Given the description of an element on the screen output the (x, y) to click on. 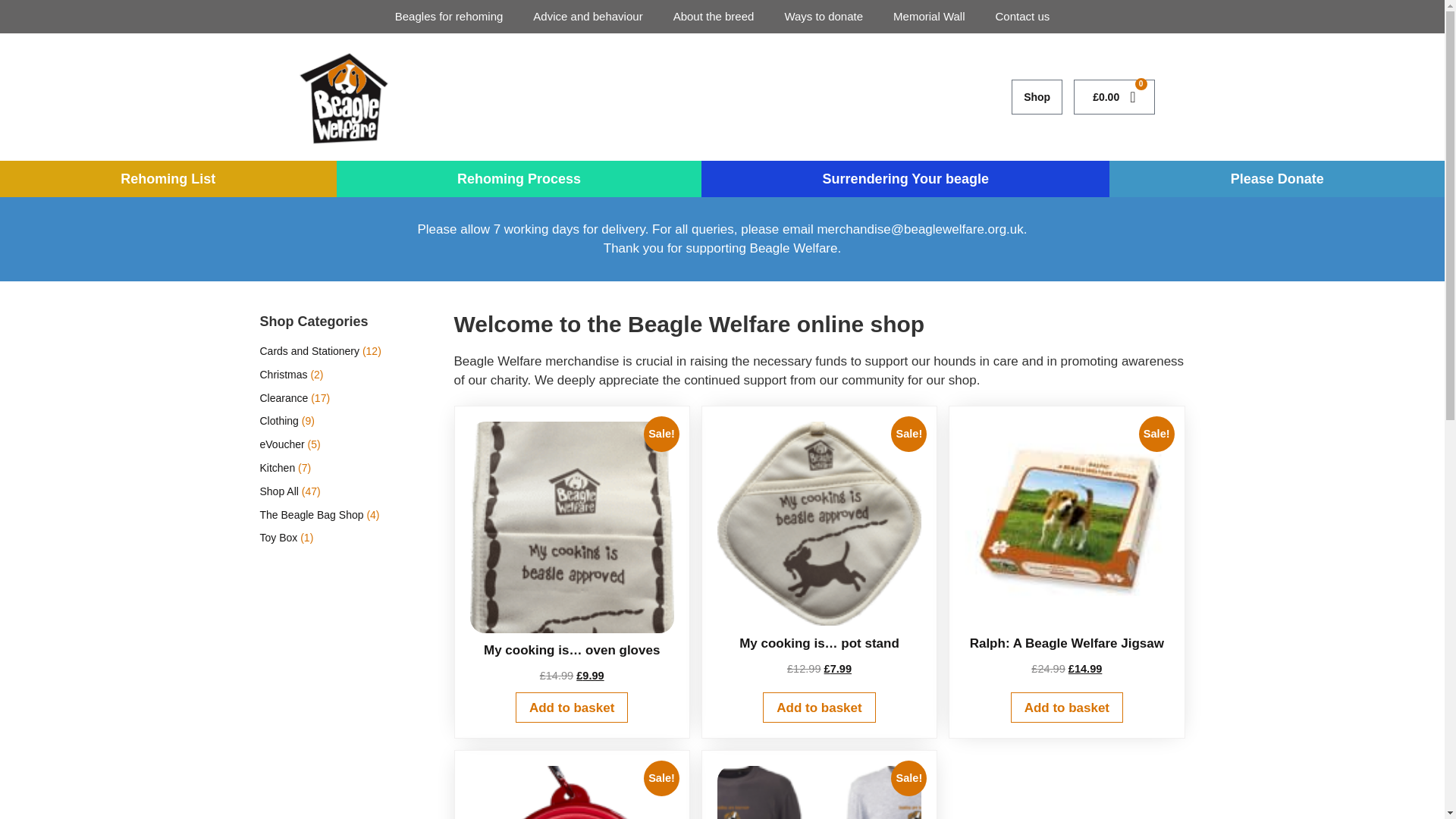
Advice and behaviour (588, 16)
Ways to donate (822, 16)
Beagles for rehoming (449, 16)
About the breed (714, 16)
Memorial Wall (928, 16)
Contact us (1022, 16)
